Given the description of an element on the screen output the (x, y) to click on. 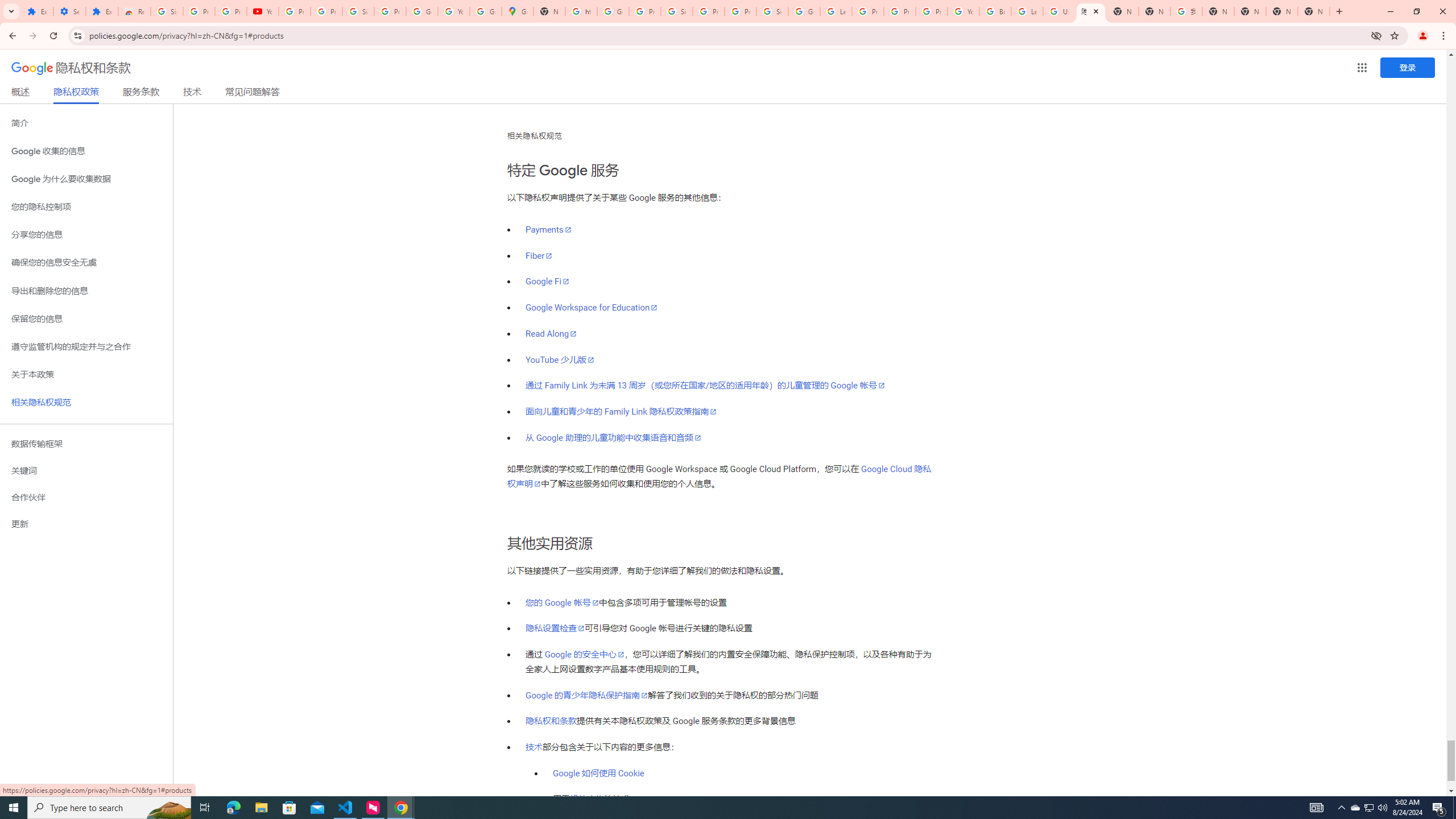
Google Maps (517, 11)
Sign in - Google Accounts (772, 11)
Sign in - Google Accounts (166, 11)
Privacy Help Center - Policies Help (899, 11)
